Given the description of an element on the screen output the (x, y) to click on. 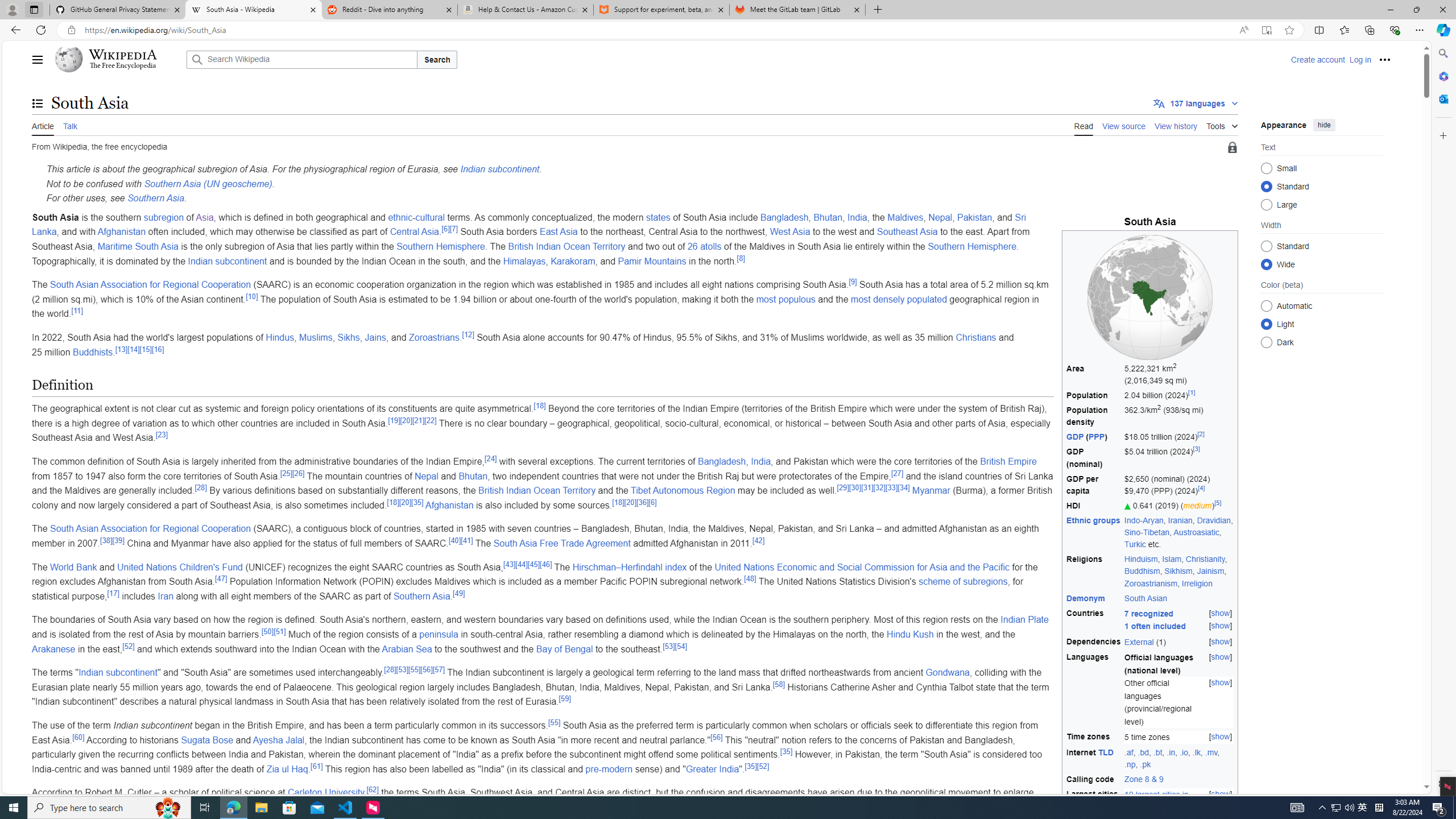
scheme of subregions (962, 581)
.af (1129, 751)
Dependencies (1093, 641)
Log in (1360, 58)
PPP (1096, 437)
Southern Hemisphere (971, 246)
[show] External (1) (1179, 641)
South Asian (1145, 597)
Dravidian (1213, 519)
View history (1176, 124)
[41] (466, 539)
Irreligion (1197, 583)
[59] (564, 698)
